Given the description of an element on the screen output the (x, y) to click on. 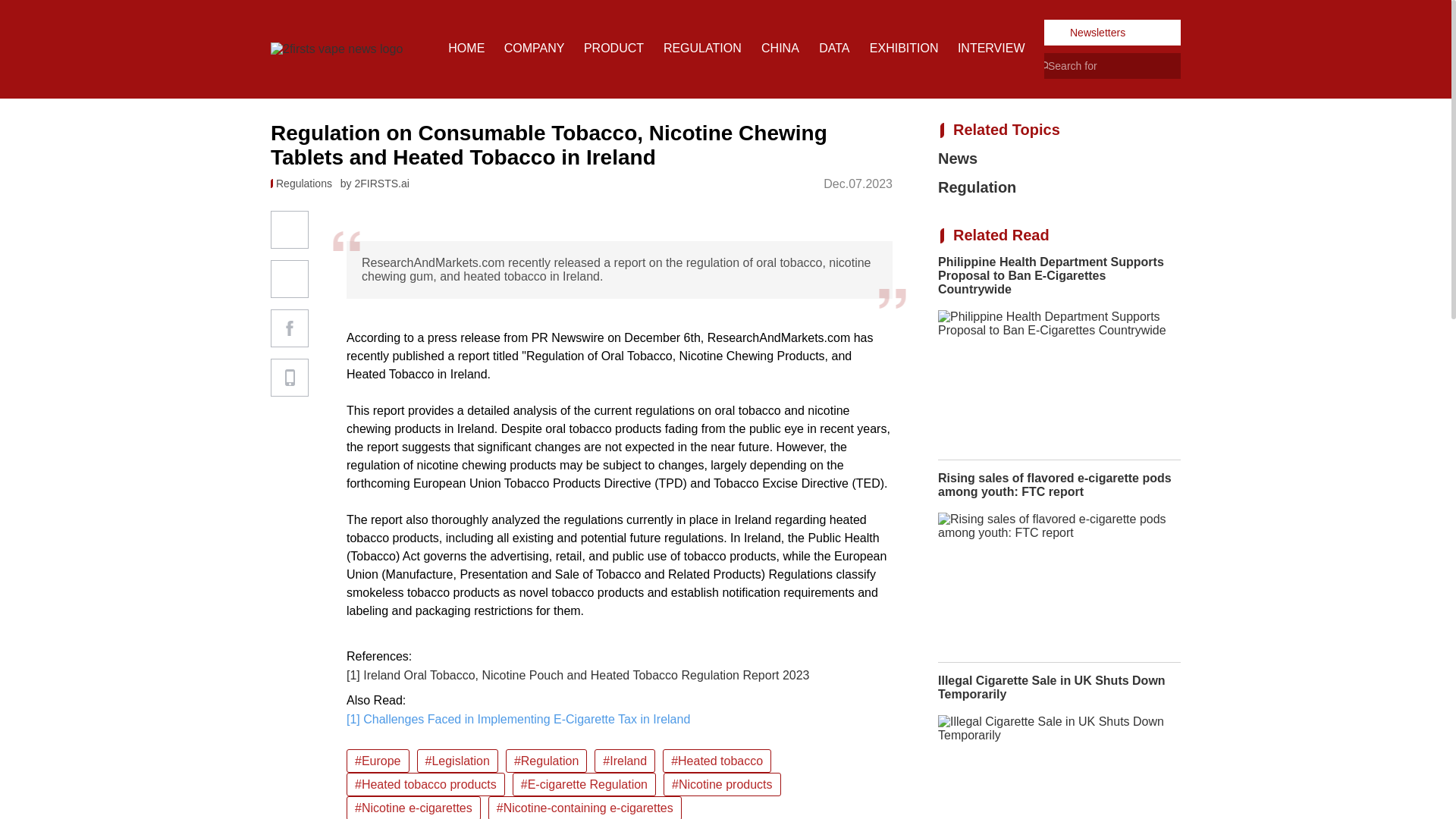
COMPANY (533, 48)
EXHIBITION (904, 48)
CHINA (780, 48)
HOME (466, 48)
REGULATION (702, 48)
PRODUCT (613, 48)
News (1058, 158)
INTERVIEW (991, 48)
